Given the description of an element on the screen output the (x, y) to click on. 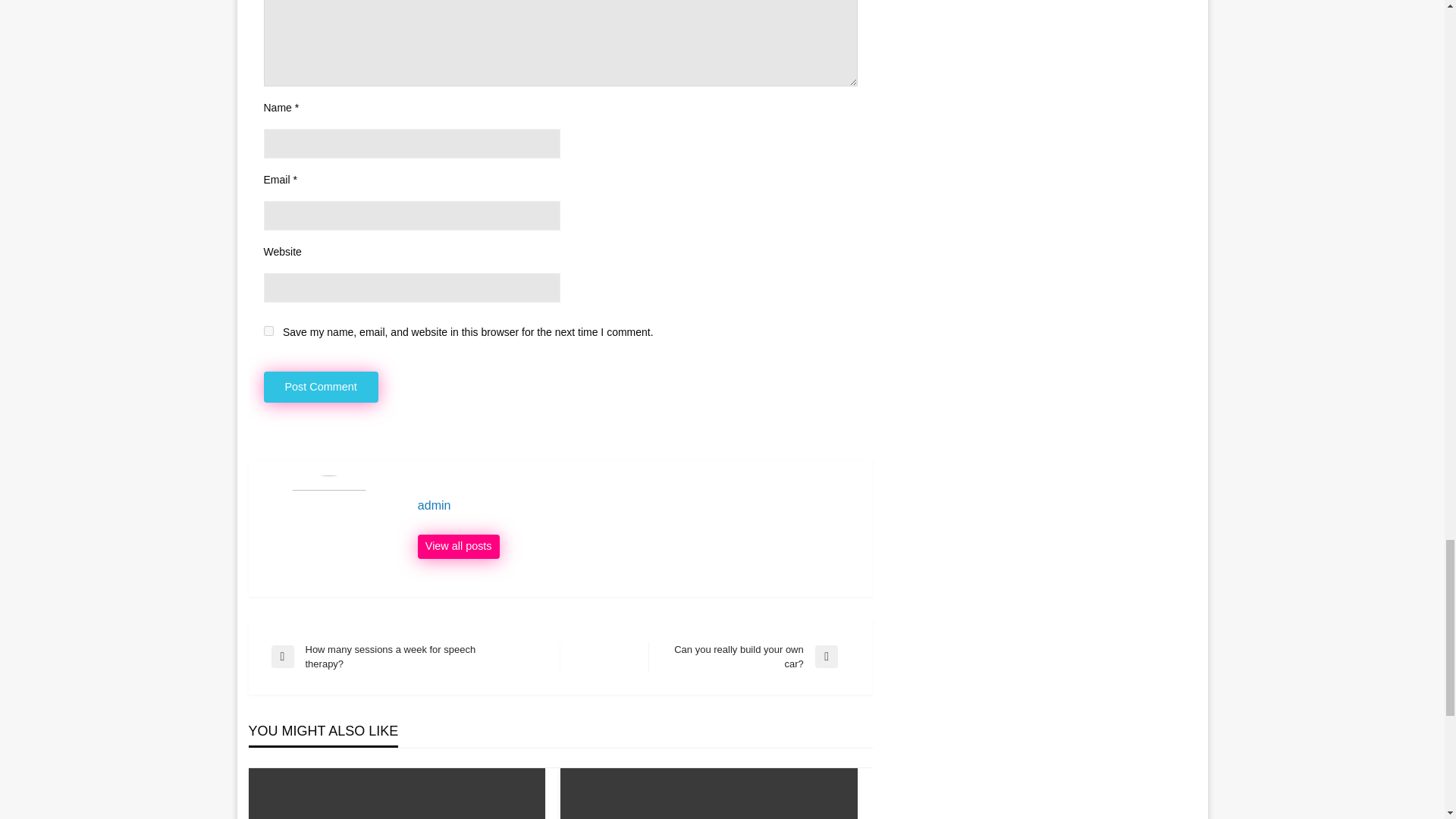
yes (268, 330)
admin (458, 546)
Post Comment (320, 386)
admin (637, 505)
View all posts (458, 546)
Post Comment (747, 656)
admin (415, 656)
